Given the description of an element on the screen output the (x, y) to click on. 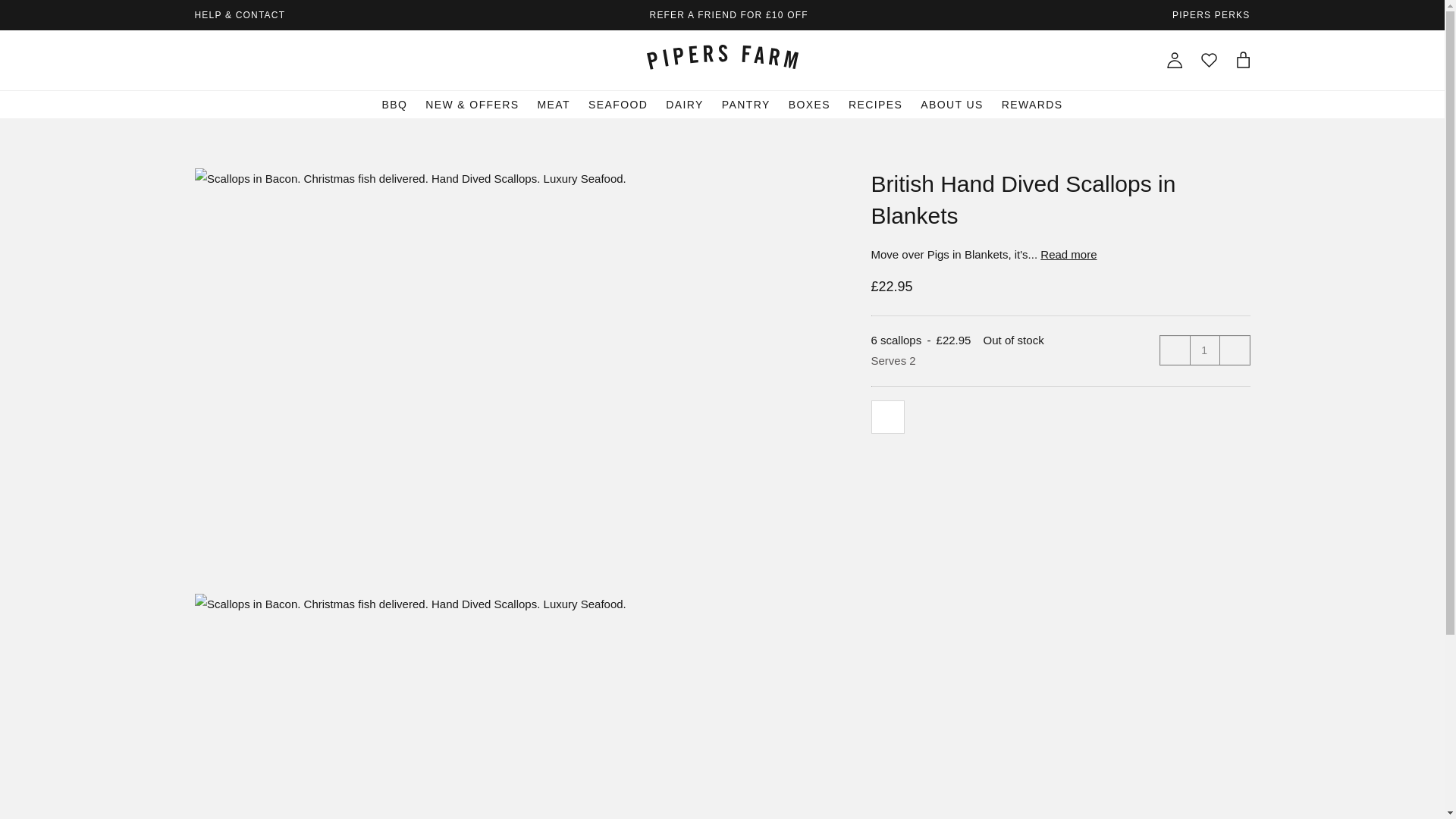
BBQ (394, 103)
PIPERS PERKS (1210, 15)
Refer a friend (728, 15)
1 (1204, 349)
Skip to content (203, 39)
MEAT (553, 103)
Pipers Perks (1210, 15)
